Given the description of an element on the screen output the (x, y) to click on. 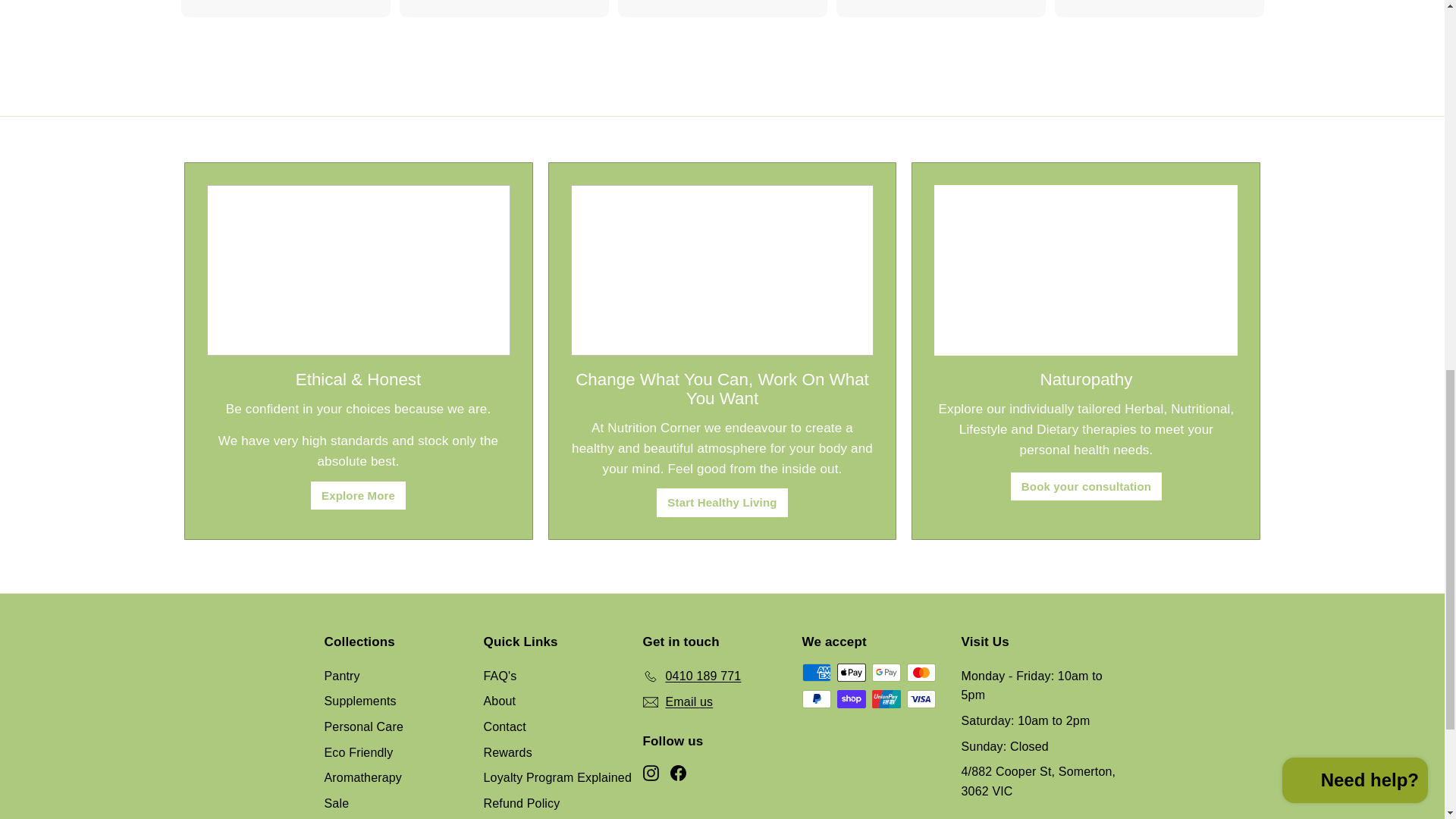
Google Pay (886, 672)
American Express (816, 672)
Apple Pay (851, 672)
PayPal (816, 699)
Mastercard (921, 672)
Shop Pay (851, 699)
